Given the description of an element on the screen output the (x, y) to click on. 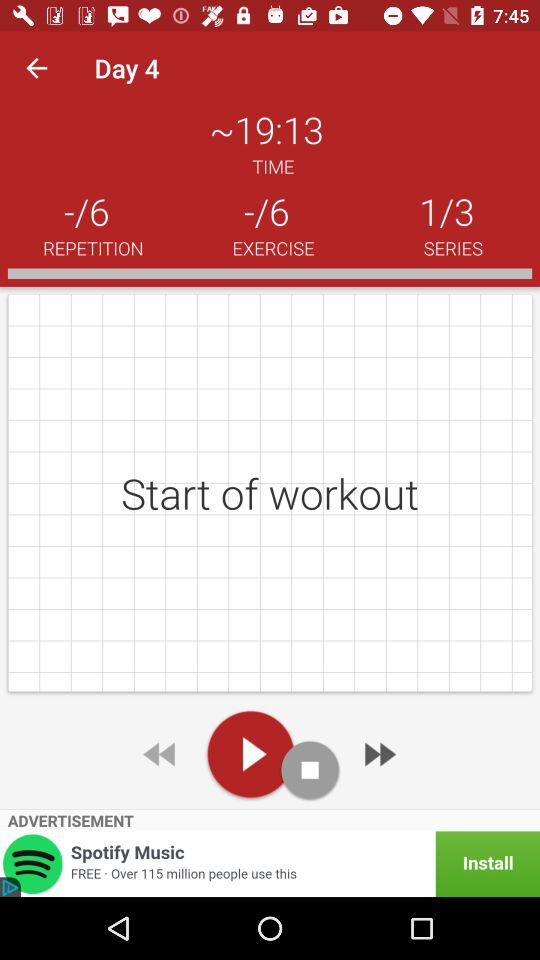
fast forward (378, 754)
